Given the description of an element on the screen output the (x, y) to click on. 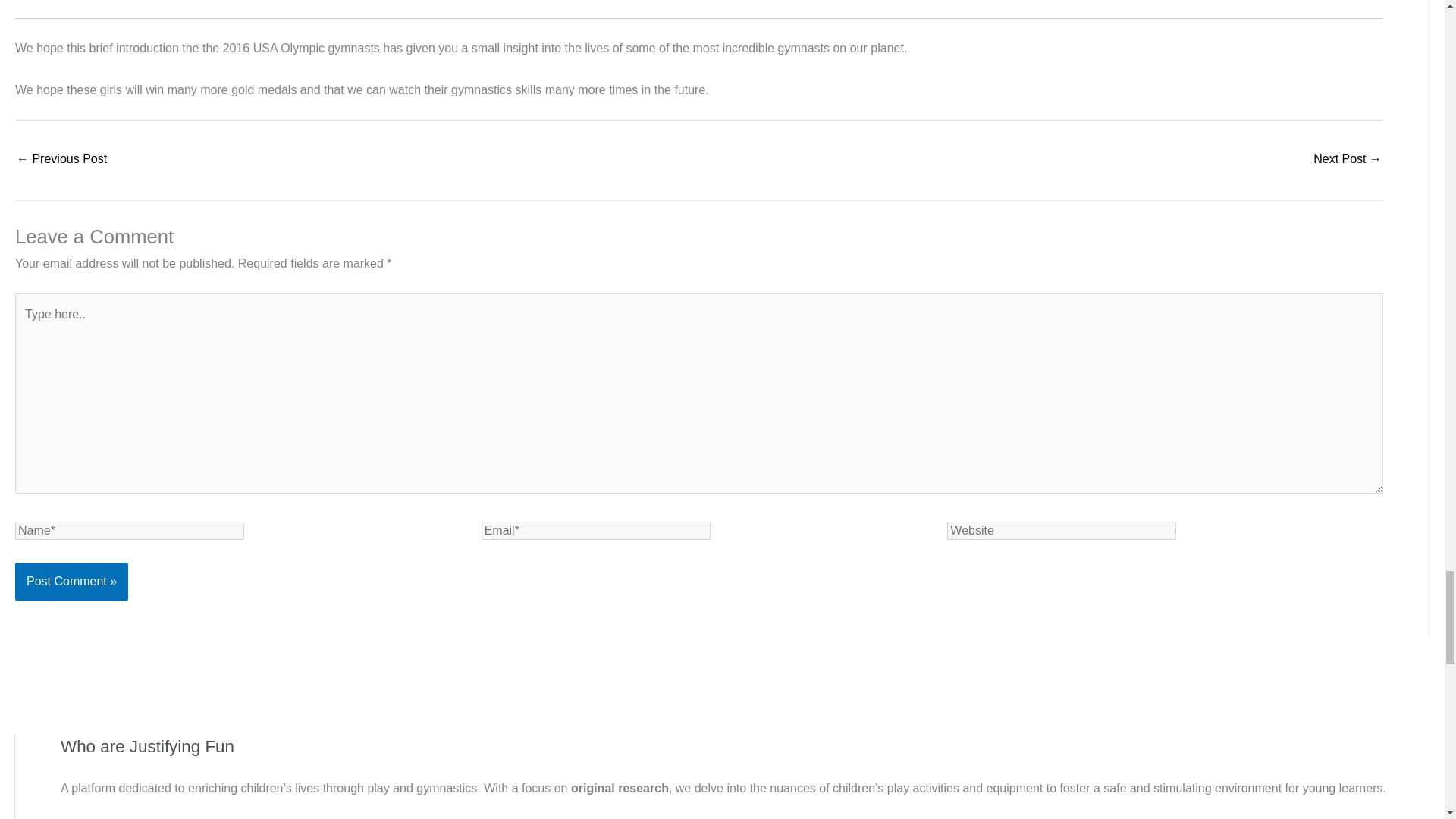
Growing into Basketball (61, 160)
